Given the description of an element on the screen output the (x, y) to click on. 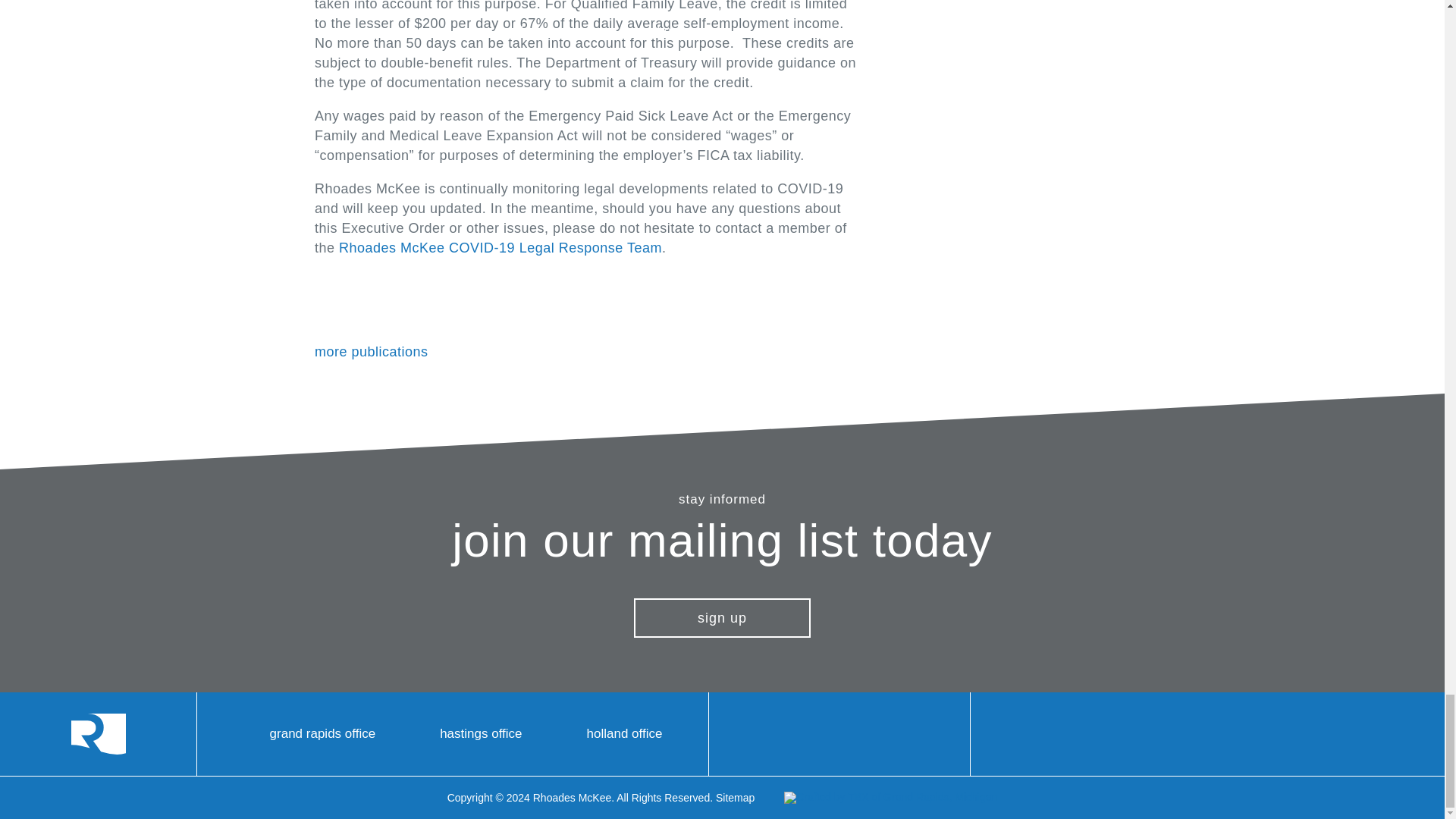
more publications (379, 350)
Rhoades McKee COVID-19 Legal Response Team (500, 247)
View the Grand Rapids Rhoades McKee office on Google Maps (309, 733)
holland office (611, 733)
Rhoades McKee (98, 733)
View the Holland Rhoades McKee office on Google Map (611, 733)
sign up (721, 618)
hastings office (467, 733)
Go Home (98, 733)
Twitter (905, 733)
